Given the description of an element on the screen output the (x, y) to click on. 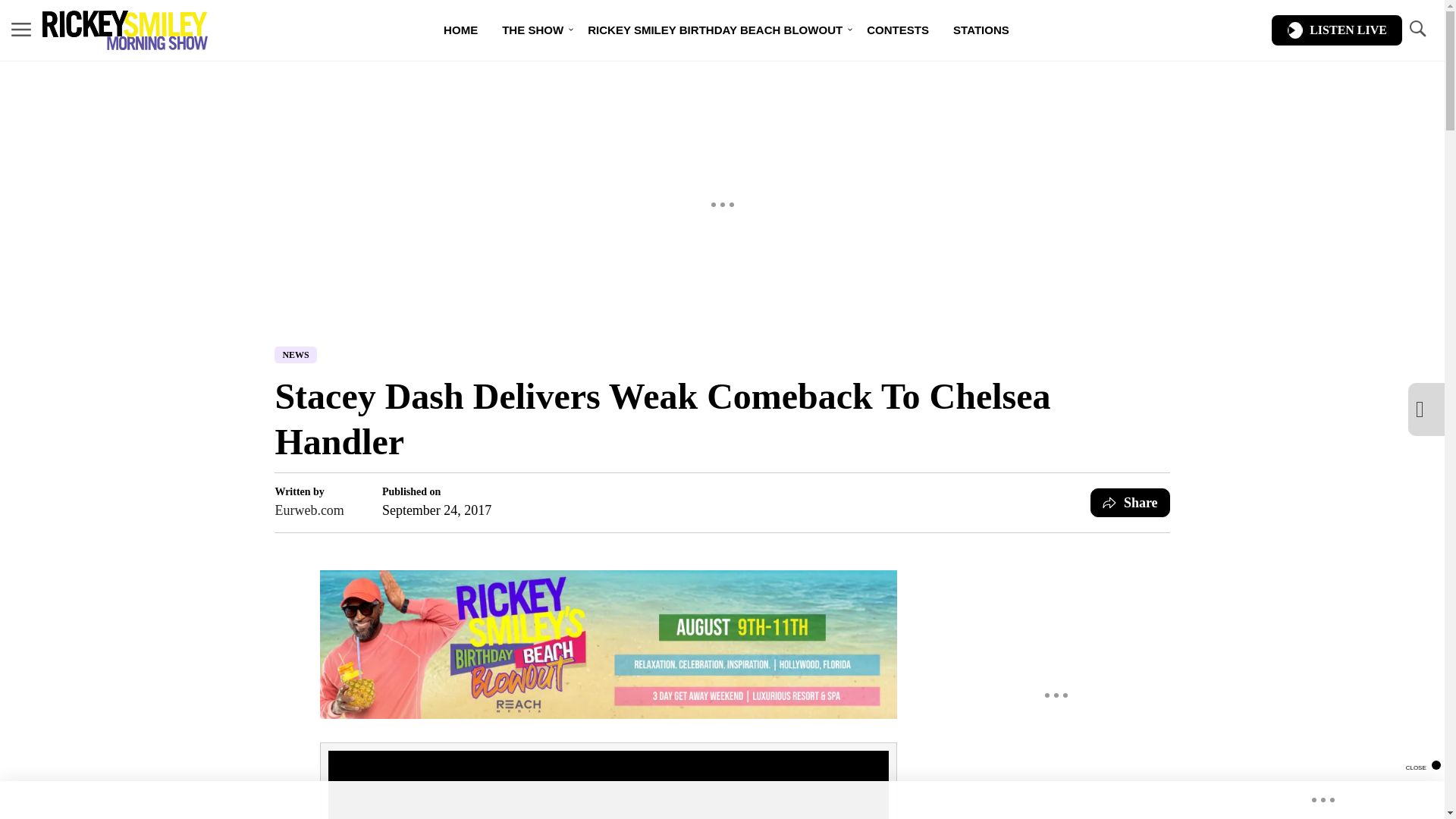
MENU (20, 29)
Stations (981, 30)
MENU (20, 30)
Share (1130, 502)
THE SHOW (532, 30)
NEWS (295, 354)
Eurweb.com (309, 509)
STATIONS (981, 30)
RICKEY SMILEY BIRTHDAY BEACH BLOWOUT (714, 30)
HOME (459, 30)
TOGGLE SEARCH (1417, 28)
LISTEN LIVE (1336, 30)
CONTESTS (897, 30)
TOGGLE SEARCH (1417, 30)
